Given the description of an element on the screen output the (x, y) to click on. 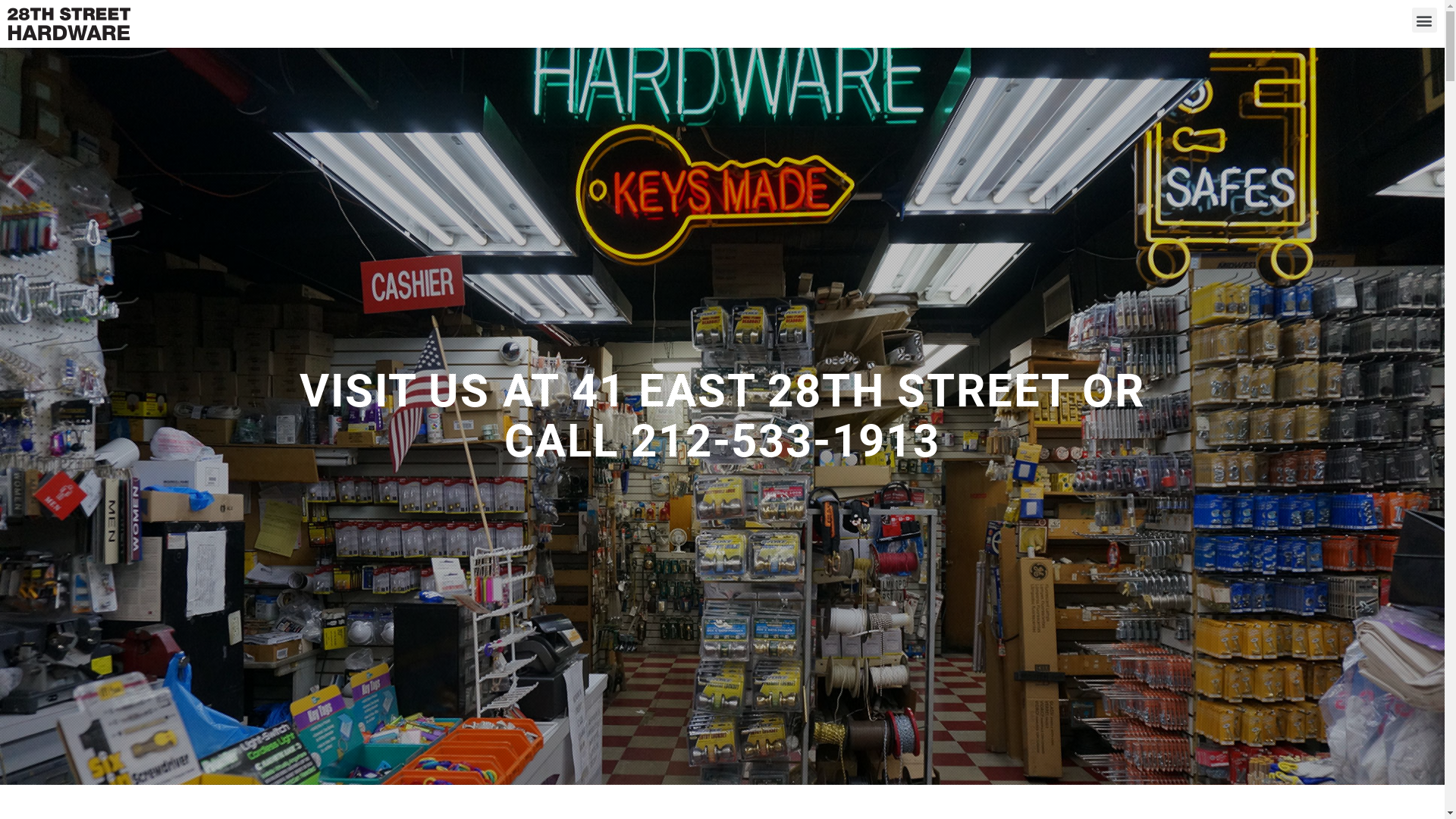
212-533-1913 Element type: text (785, 440)
